Given the description of an element on the screen output the (x, y) to click on. 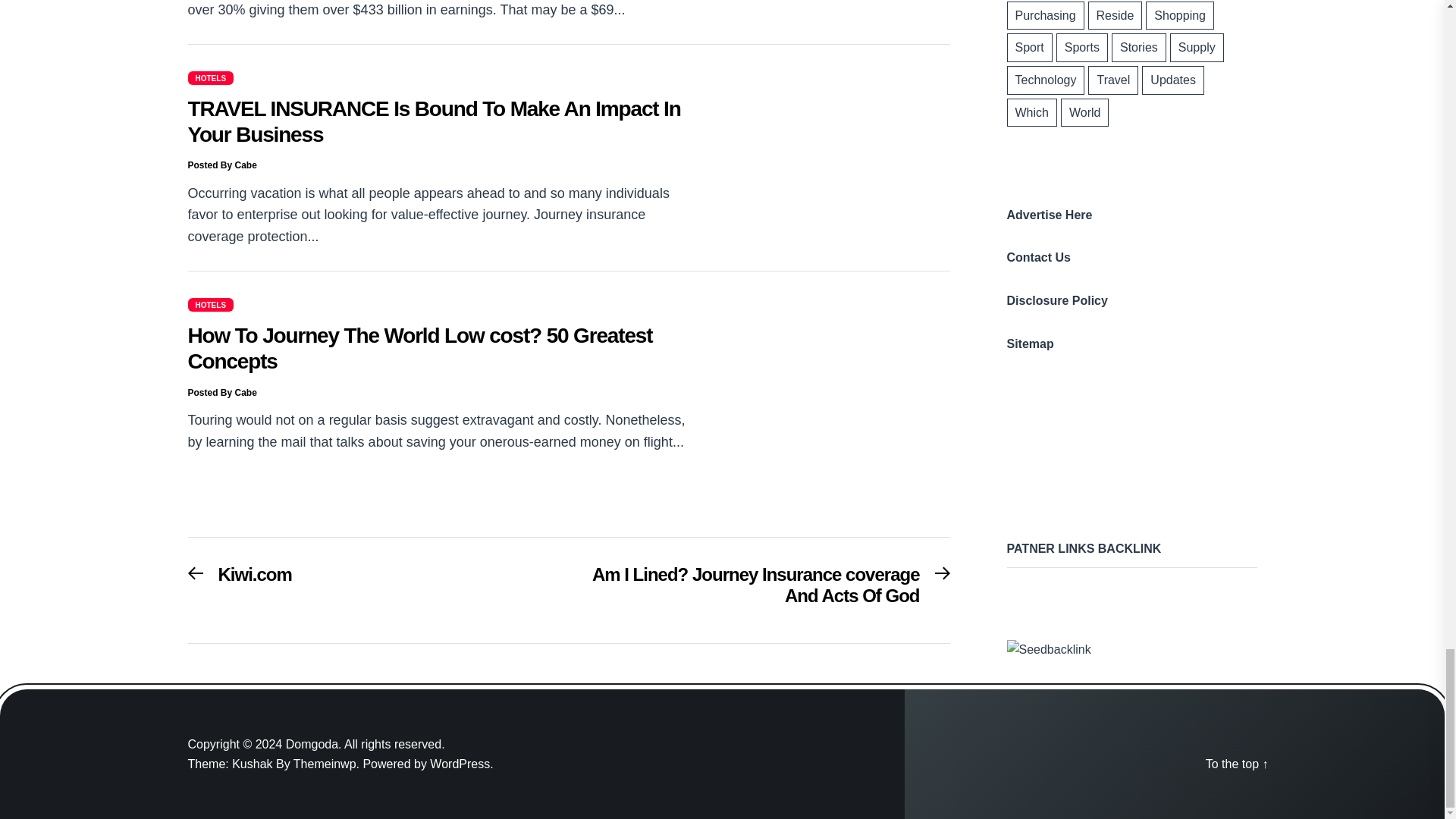
Themeinwp (328, 763)
How To Journey The World Low cost? 50 Greatest Concepts (419, 348)
HOTELS (210, 78)
TRAVEL INSURANCE Is Bound To Make An Impact In Your Business (239, 579)
Posted By Cabe (434, 121)
HOTELS (222, 164)
WordPress (210, 305)
Posted By Cabe (461, 763)
Domgoda (222, 392)
